Given the description of an element on the screen output the (x, y) to click on. 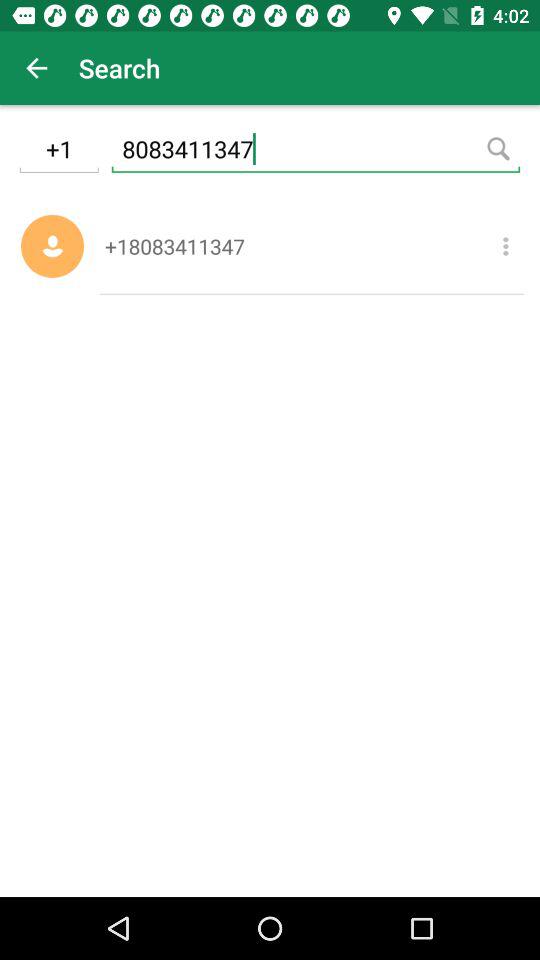
launch icon next to search (36, 68)
